Given the description of an element on the screen output the (x, y) to click on. 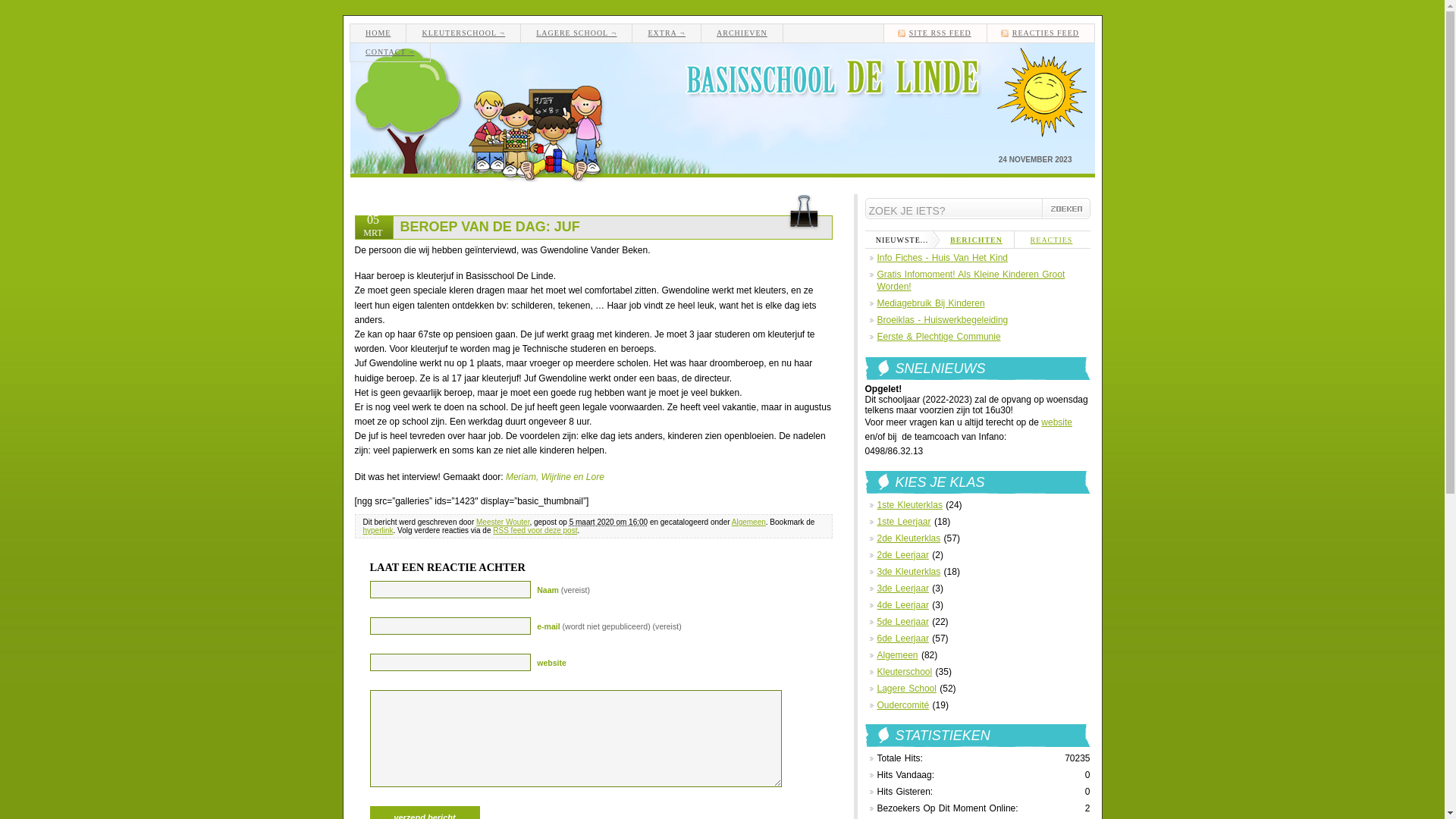
REACTIES Element type: text (1051, 239)
1ste Leerjaar Element type: text (903, 521)
Eerste & Plechtige Communie Element type: text (938, 336)
hyperlink Element type: text (377, 530)
Mediagebruik Bij Kinderen Element type: text (930, 303)
Algemeen Element type: text (896, 654)
3de Leerjaar Element type: text (902, 588)
5de Leerjaar Element type: text (902, 621)
RSS feed voor deze post Element type: text (534, 530)
1ste Kleuterklas Element type: text (908, 504)
ARCHIEVEN Element type: text (741, 33)
2de Kleuterklas Element type: text (908, 538)
Meester Wouter Element type: text (502, 521)
BERICHTEN Element type: text (976, 239)
SITE RSS FEED Element type: text (938, 33)
6de Leerjaar Element type: text (902, 638)
website Element type: text (1056, 422)
Gratis Infomoment! Als Kleine Kinderen Groot Worden! Element type: text (970, 280)
Kleuterschool Element type: text (903, 671)
REACTIES FEED Element type: text (1044, 33)
Algemeen Element type: text (748, 521)
Info Fiches - Huis Van Het Kind Element type: text (941, 257)
2de Leerjaar Element type: text (902, 554)
Lagere School Element type: text (905, 688)
4de Leerjaar Element type: text (902, 604)
3de Kleuterklas Element type: text (908, 571)
HOME Element type: text (377, 33)
Broeiklas - Huiswerkbegeleiding Element type: text (941, 319)
